Given the description of an element on the screen output the (x, y) to click on. 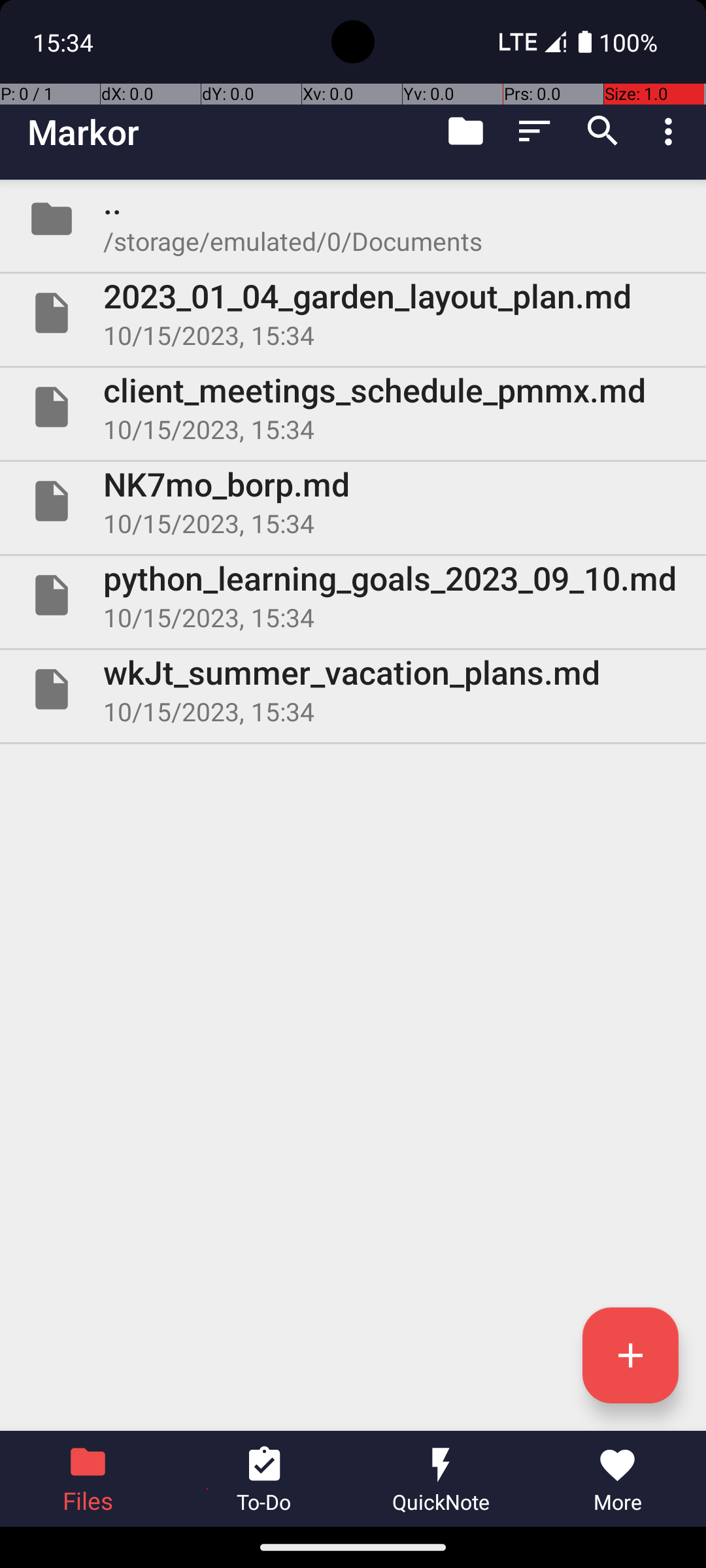
File 2023_01_04_garden_layout_plan.md  Element type: android.widget.LinearLayout (353, 312)
File client_meetings_schedule_pmmx.md  Element type: android.widget.LinearLayout (353, 406)
File NK7mo_borp.md  Element type: android.widget.LinearLayout (353, 500)
File python_learning_goals_2023_09_10.md  Element type: android.widget.LinearLayout (353, 594)
File wkJt_summer_vacation_plans.md  Element type: android.widget.LinearLayout (353, 689)
